Given the description of an element on the screen output the (x, y) to click on. 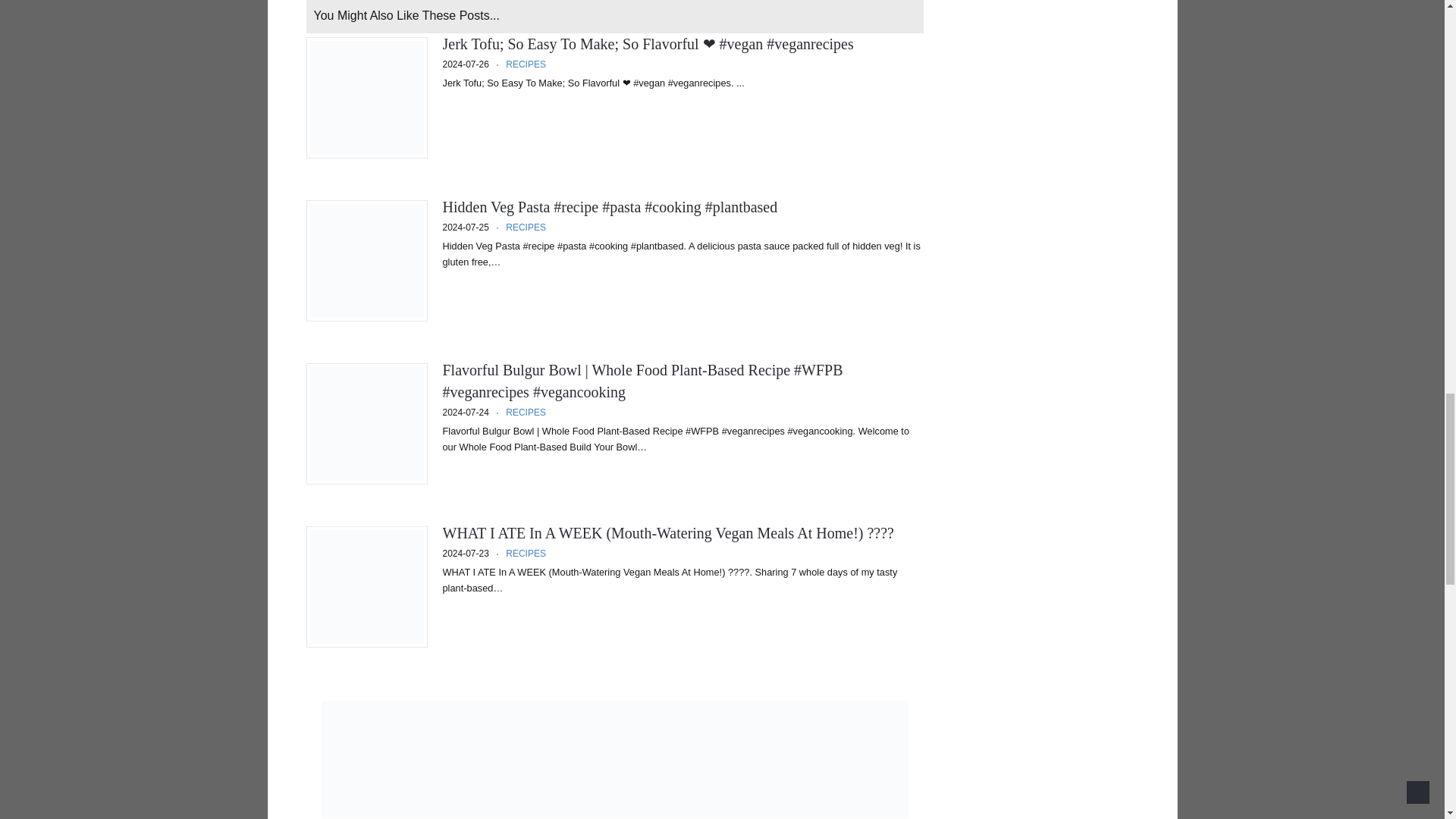
RECIPES (525, 226)
RECIPES (525, 412)
RECIPES (525, 552)
Spring Sale at Amazon (614, 813)
RECIPES (525, 63)
